Given the description of an element on the screen output the (x, y) to click on. 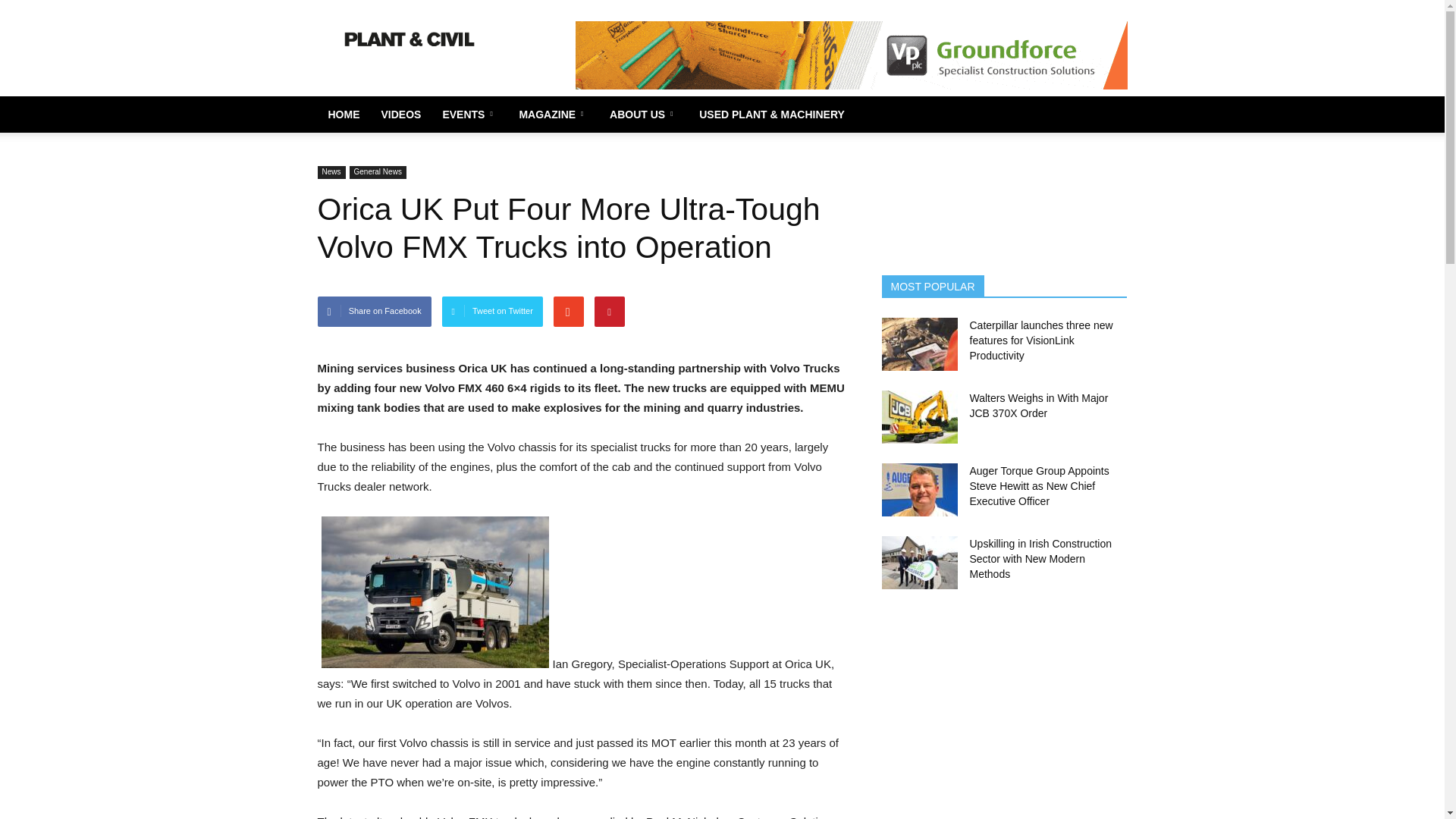
ABOUT US (643, 114)
VIDEOS (399, 114)
Walters Weighs in With Major JCB 370X Order (1038, 405)
Walters Weighs in With Major JCB 370X Order (918, 416)
EVENTS (469, 114)
MAGAZINE (553, 114)
HOME (343, 114)
